Given the description of an element on the screen output the (x, y) to click on. 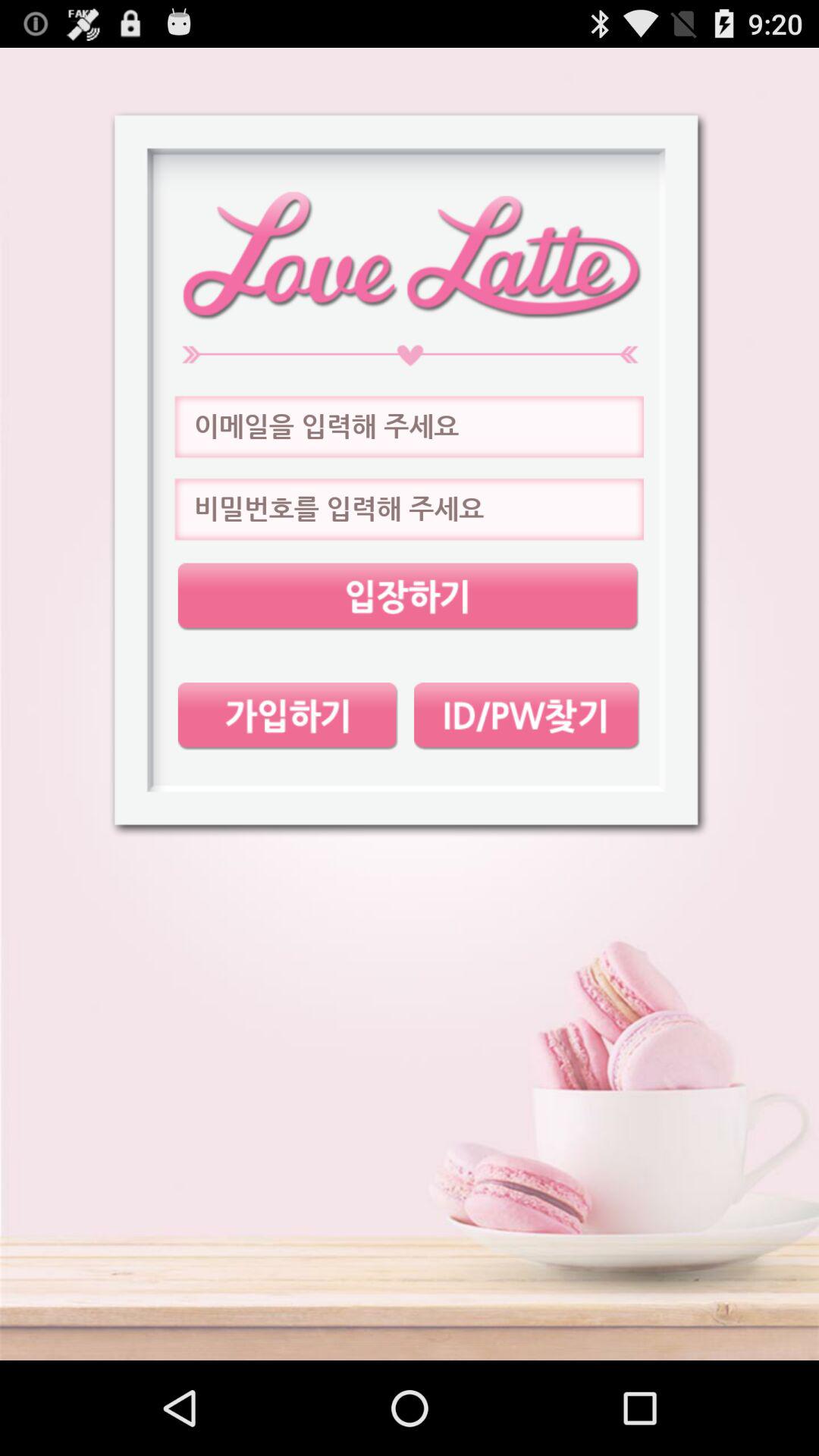
submit information (408, 596)
